Given the description of an element on the screen output the (x, y) to click on. 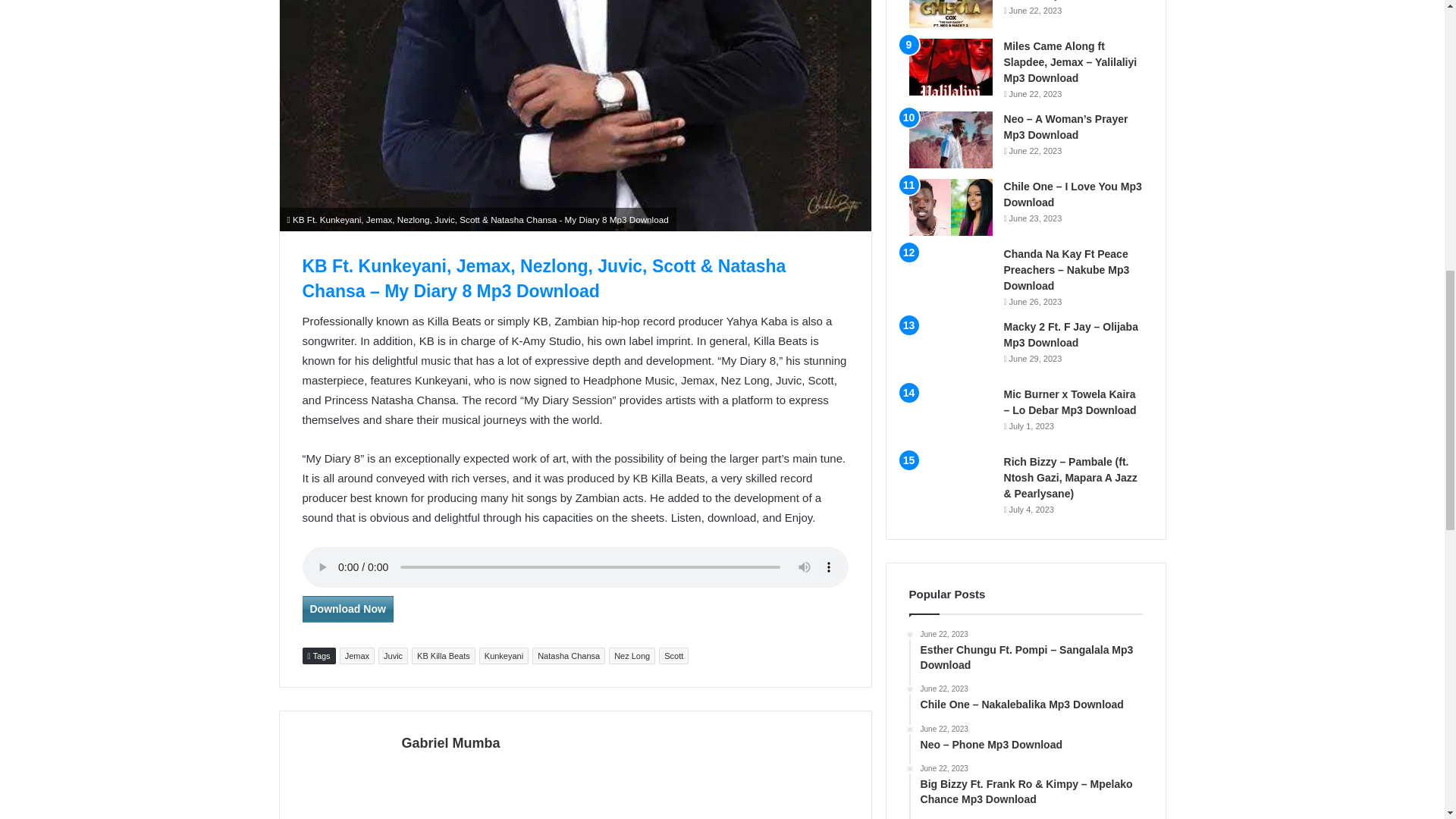
Jemax (356, 655)
Download Now (347, 609)
Nez Long (631, 655)
Kunkeyani (503, 655)
Scott (673, 655)
Juvic (392, 655)
Natasha Chansa (568, 655)
KB Killa Beats (444, 655)
Gabriel Mumba (450, 743)
